Given the description of an element on the screen output the (x, y) to click on. 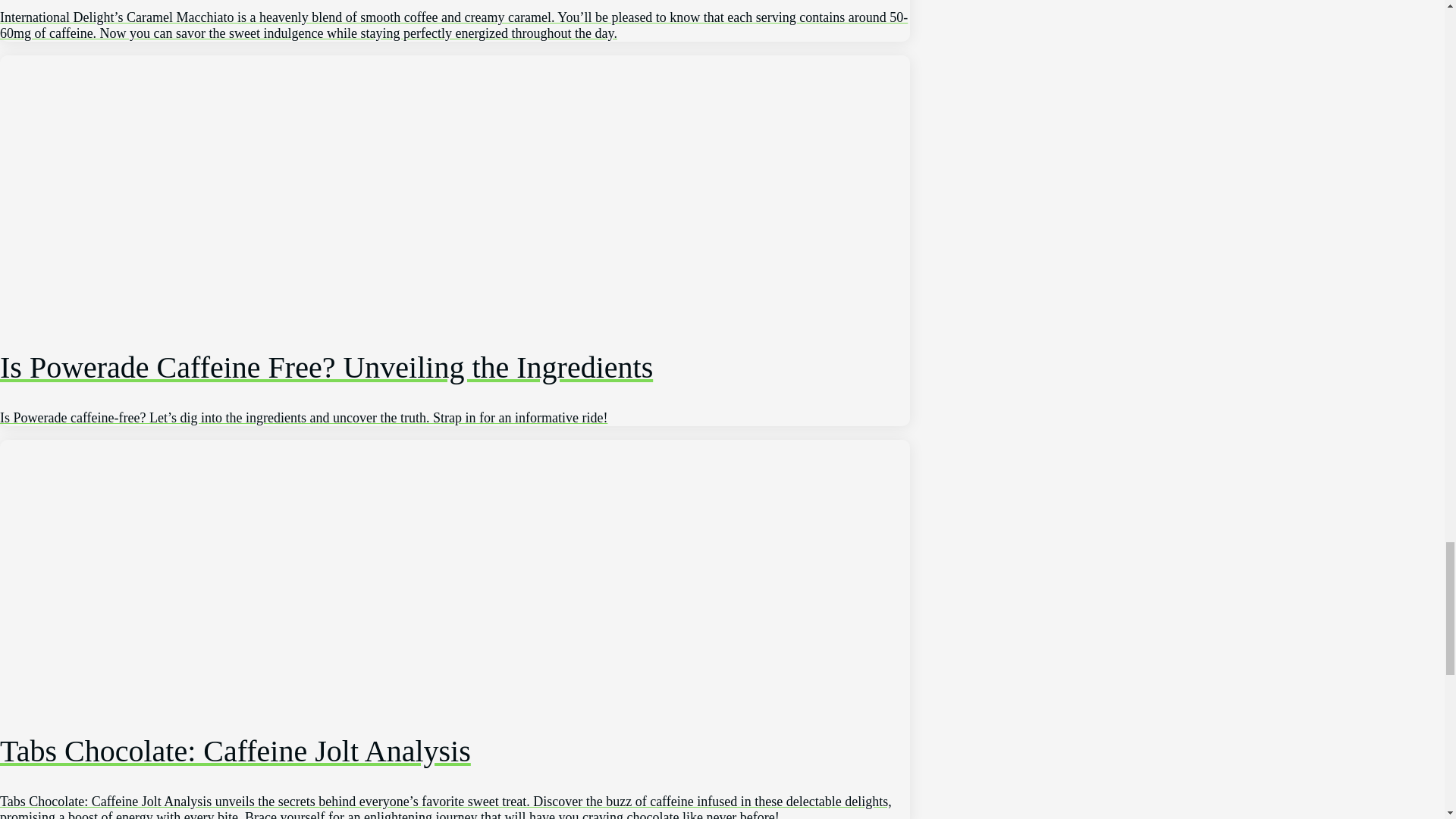
Is Powerade Caffeine Free? Unveiling the Ingredients (455, 367)
Tabs Chocolate: Caffeine Jolt Analysis (455, 756)
